Given the description of an element on the screen output the (x, y) to click on. 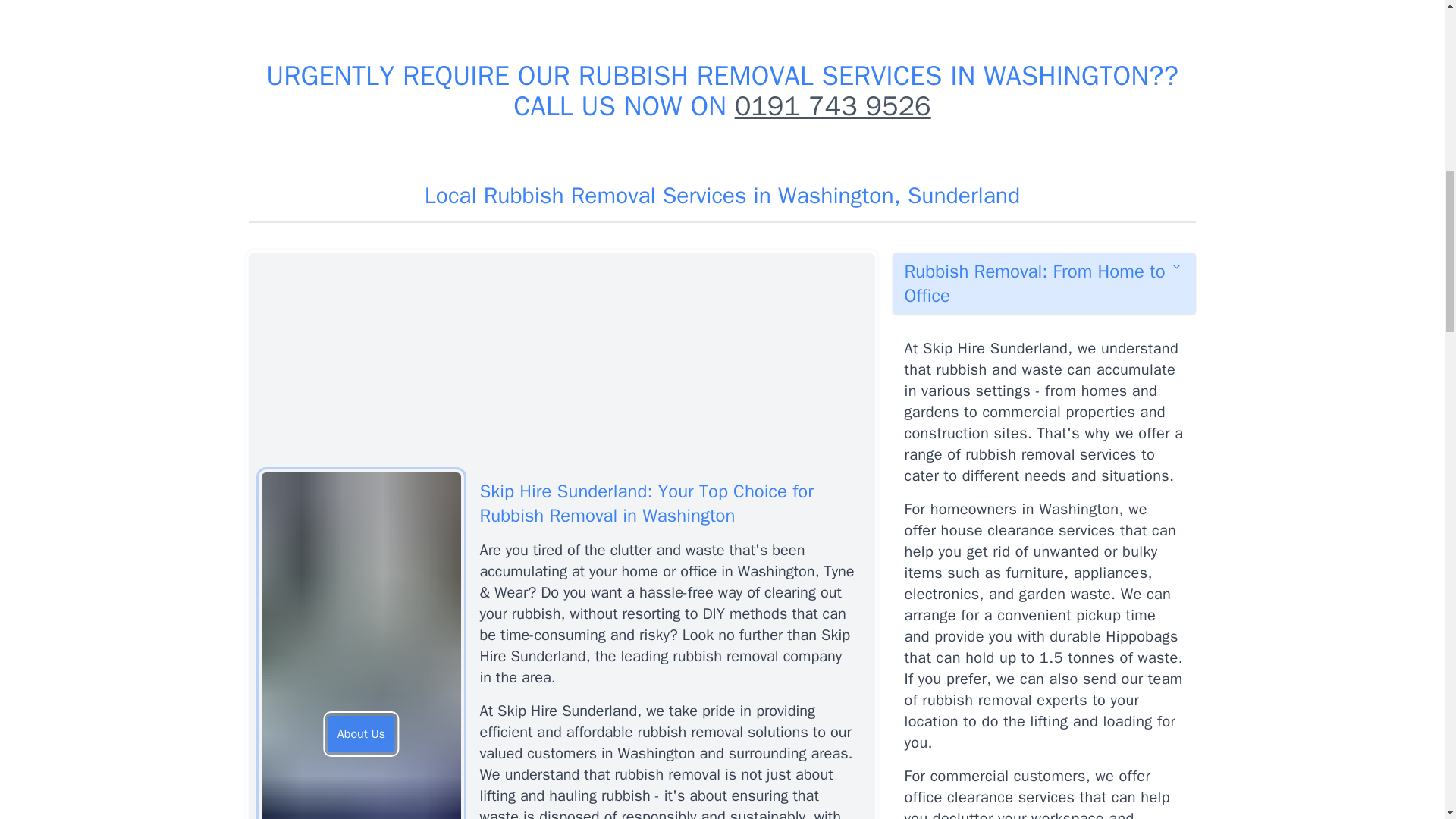
Rubbish Removal: From Home to Office (1043, 283)
About Us (361, 733)
0191 743 9526 (833, 105)
